Given the description of an element on the screen output the (x, y) to click on. 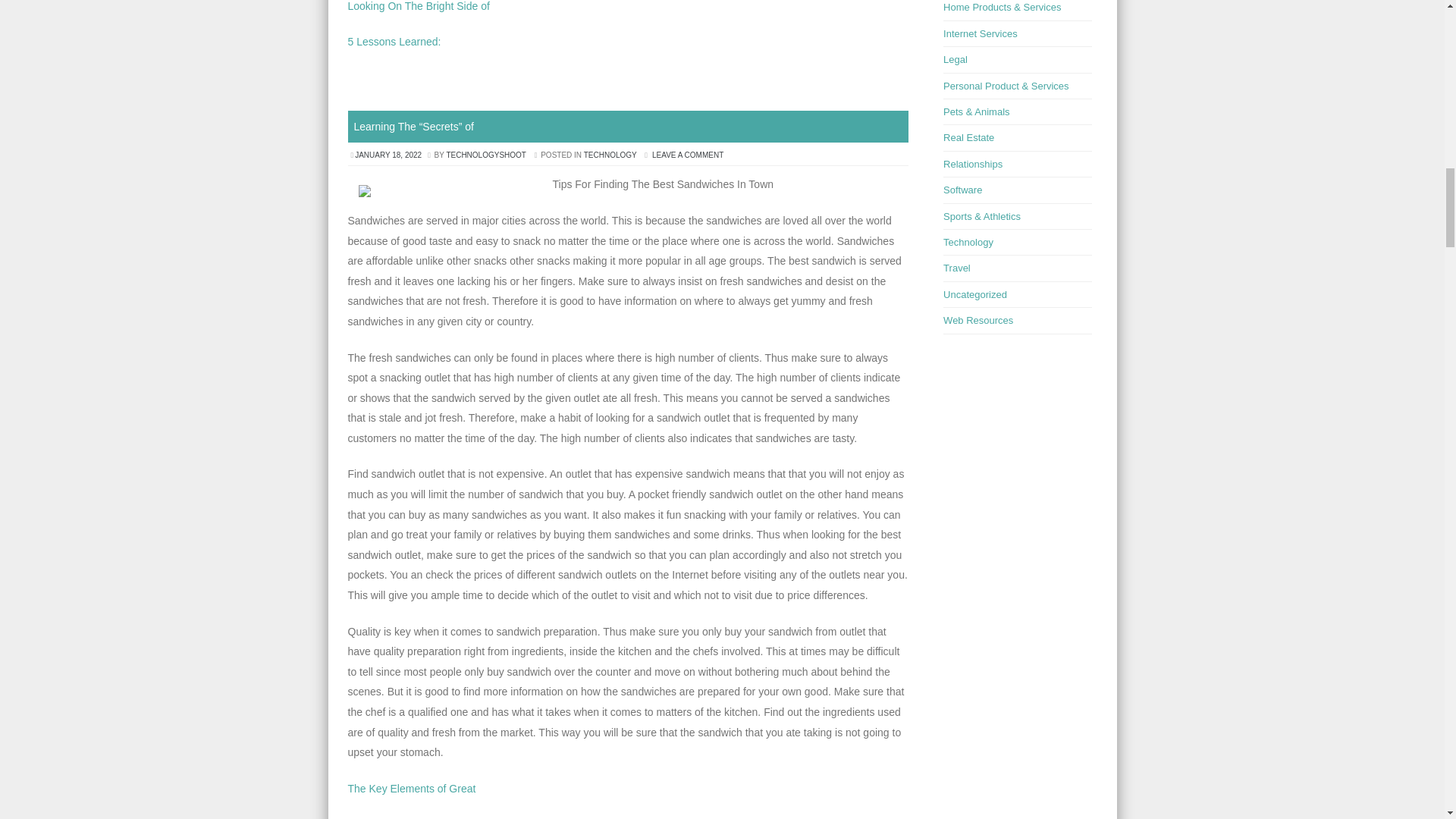
5 Lessons Learned: (394, 41)
JANUARY 18, 2022 (389, 154)
TECHNOLOGY (610, 154)
View all posts by technologyshoot (485, 154)
LEAVE A COMMENT (687, 154)
Looking On The Bright Side of (418, 6)
7:33 pm (389, 154)
TECHNOLOGYSHOOT (485, 154)
The Key Elements of Great (411, 788)
